Given the description of an element on the screen output the (x, y) to click on. 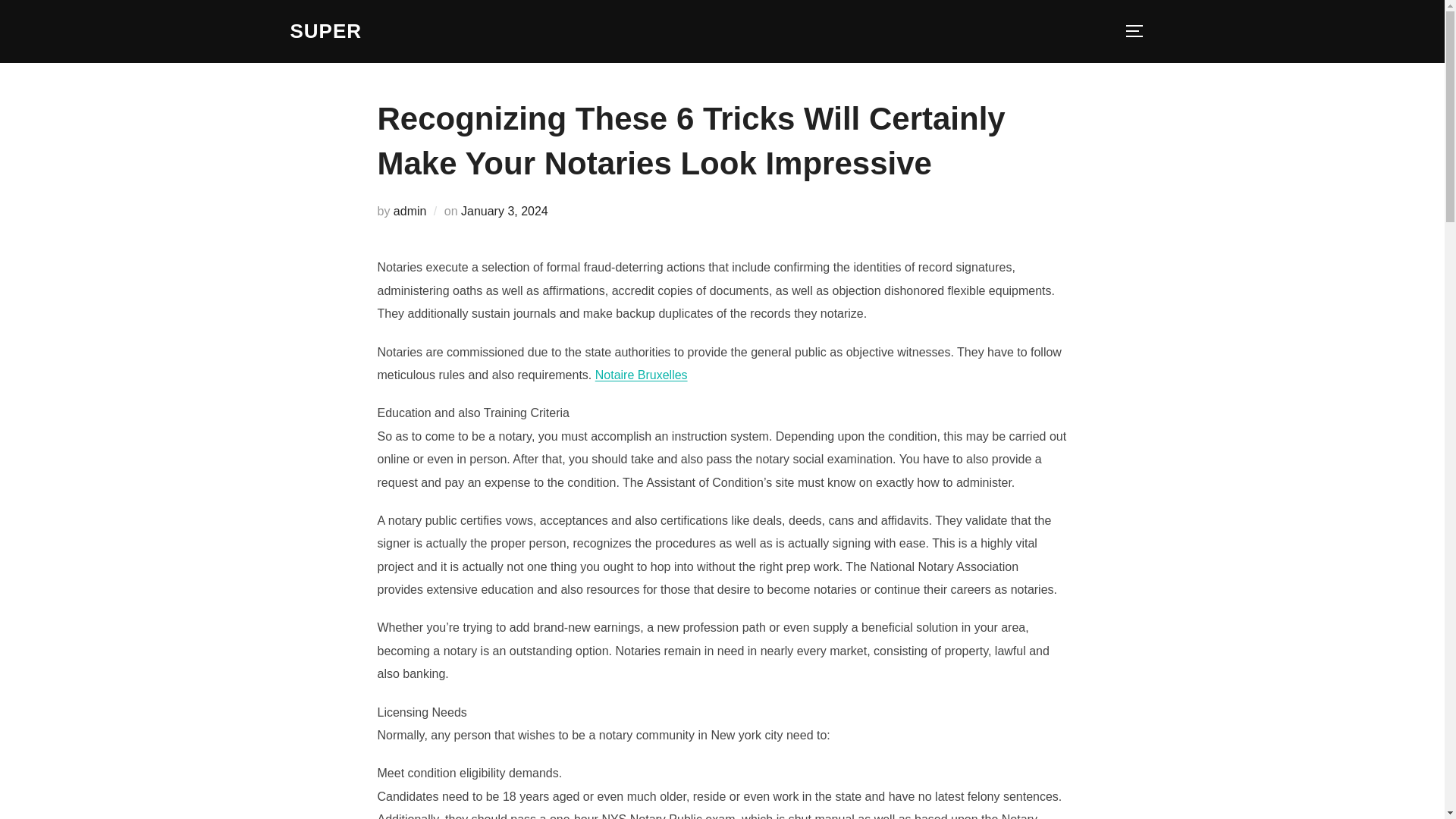
Notaire Bruxelles (641, 374)
admin (409, 210)
car inns (325, 31)
SUPER (325, 31)
January 3, 2024 (504, 210)
